Given the description of an element on the screen output the (x, y) to click on. 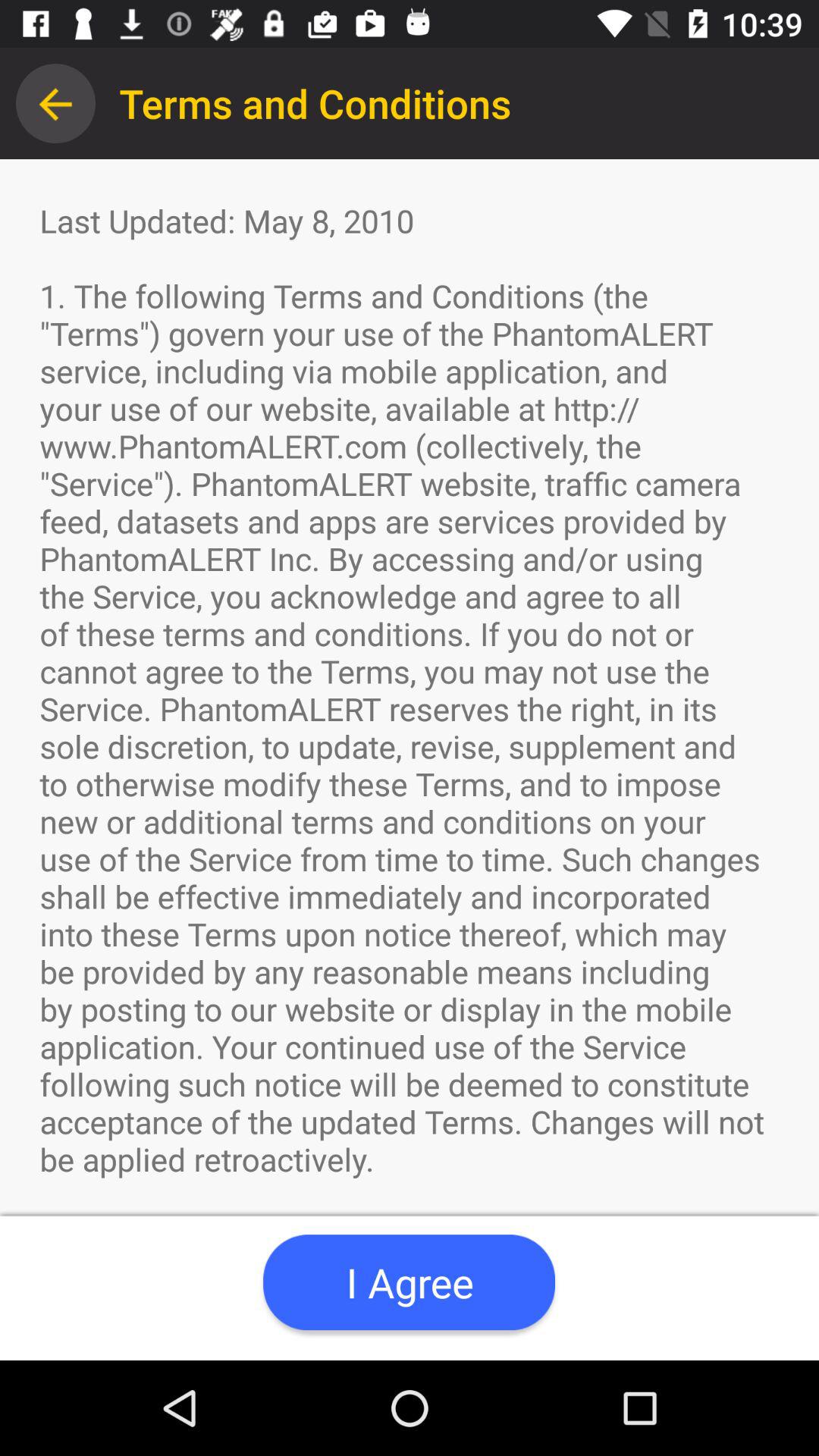
click last updated may item (409, 759)
